Given the description of an element on the screen output the (x, y) to click on. 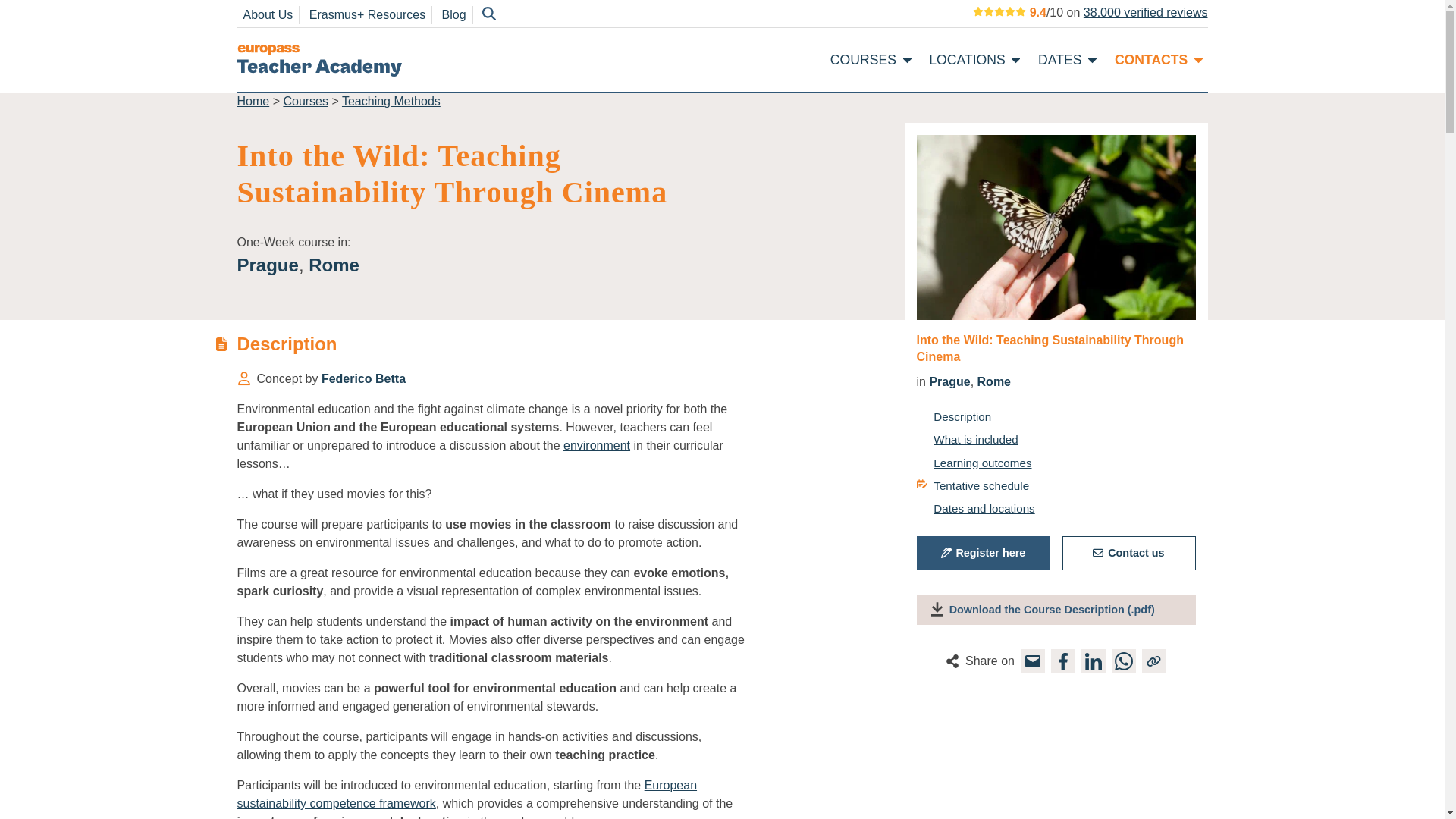
Description (953, 416)
Blog (453, 14)
Tentative schedule (972, 485)
Learning outcomes (972, 462)
38.000 verified reviews (1145, 11)
About Us (267, 14)
What is included (966, 439)
